Given the description of an element on the screen output the (x, y) to click on. 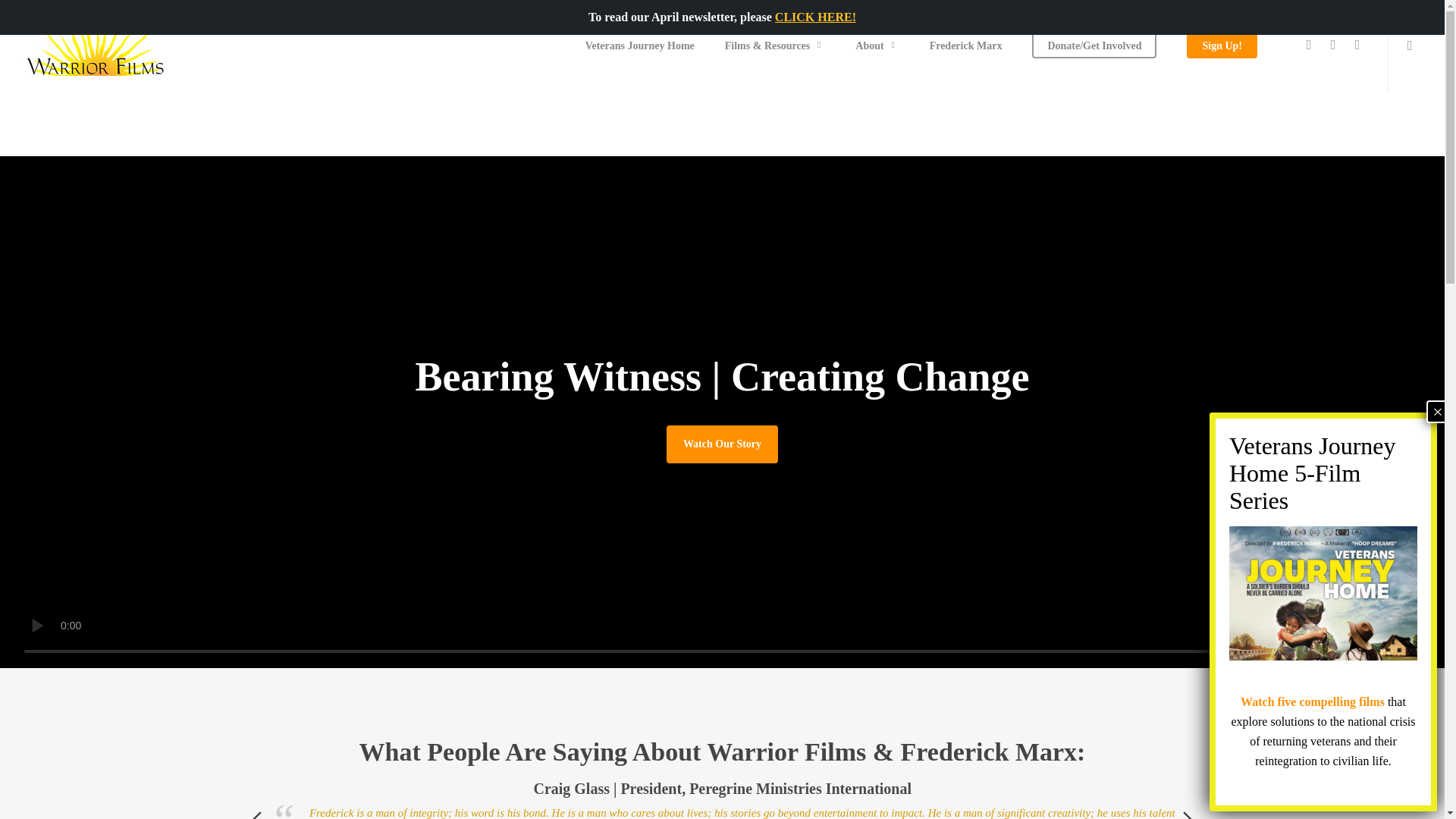
Watch Our Story (721, 444)
Previous (256, 815)
About (877, 44)
Veterans Journey Home (640, 44)
Sign Up! (1221, 44)
Frederick Marx (965, 44)
CLICK HERE! (815, 16)
Next (1187, 815)
